Given the description of an element on the screen output the (x, y) to click on. 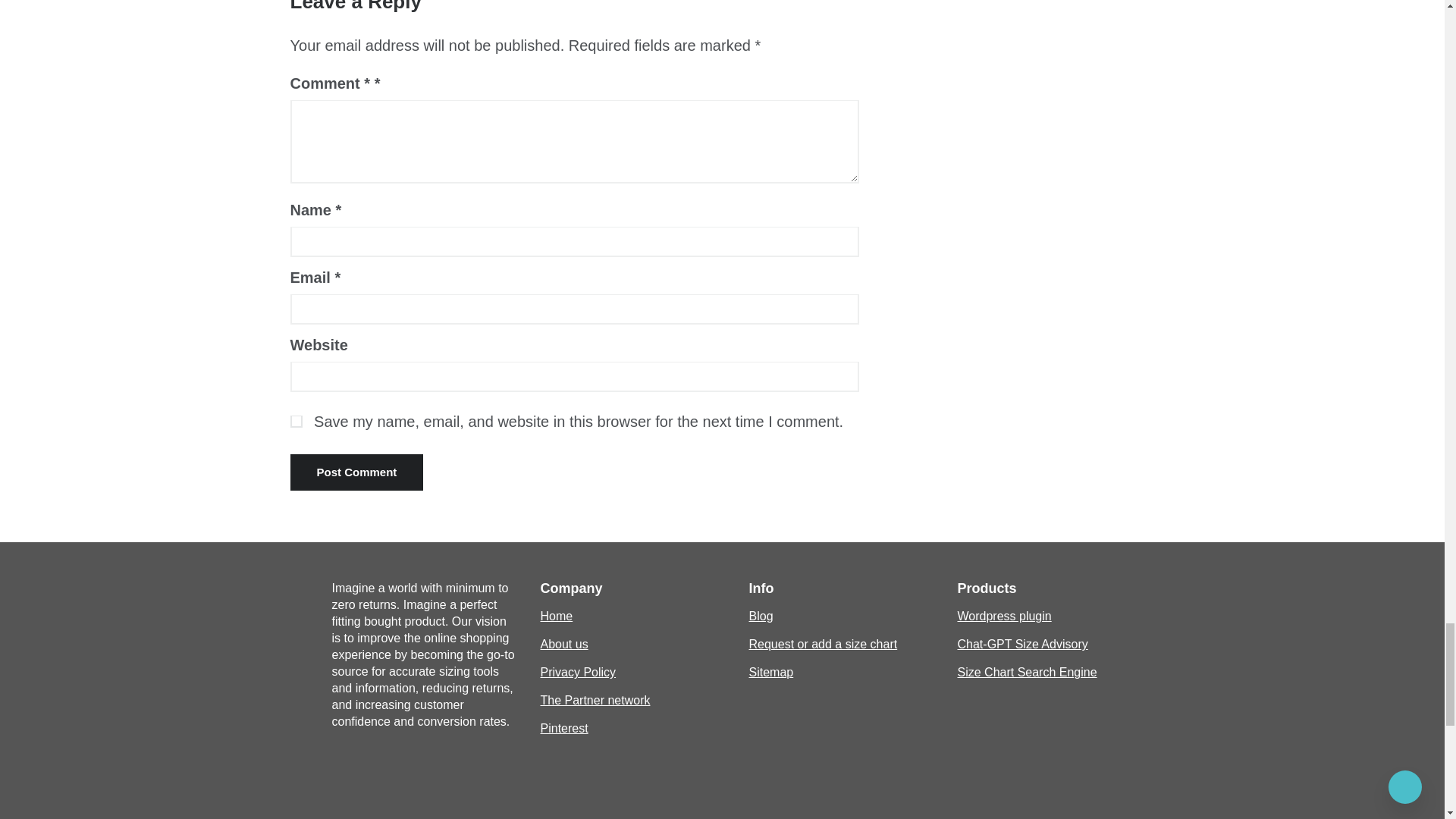
Post Comment (356, 472)
Post Comment (356, 472)
yes (295, 421)
